Given the description of an element on the screen output the (x, y) to click on. 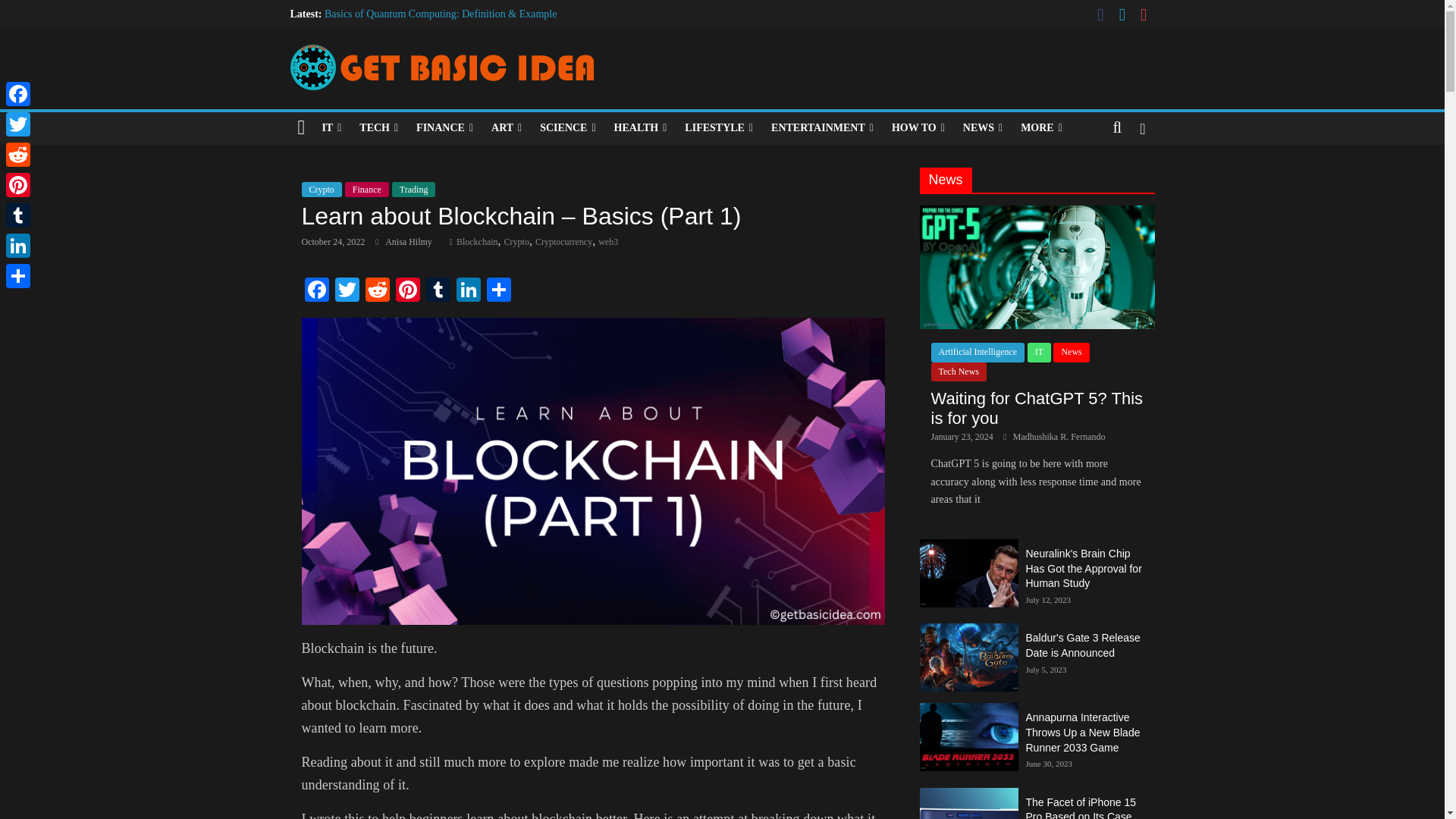
Facebook (316, 291)
IT (331, 128)
Ultrathin Ultralight Fabric Solar Cells (405, 30)
Reddit (377, 291)
Anisa Hilmy (409, 241)
Twitter (346, 291)
ART (506, 128)
How to Cast Android Phone Screen to PC (413, 64)
Apple Vision Pro: An Extraordinary Experience of Vision (446, 48)
8:07 am (333, 241)
Pinterest (408, 291)
Ultrathin Ultralight Fabric Solar Cells (405, 30)
LinkedIn (467, 291)
FINANCE (444, 128)
